Given the description of an element on the screen output the (x, y) to click on. 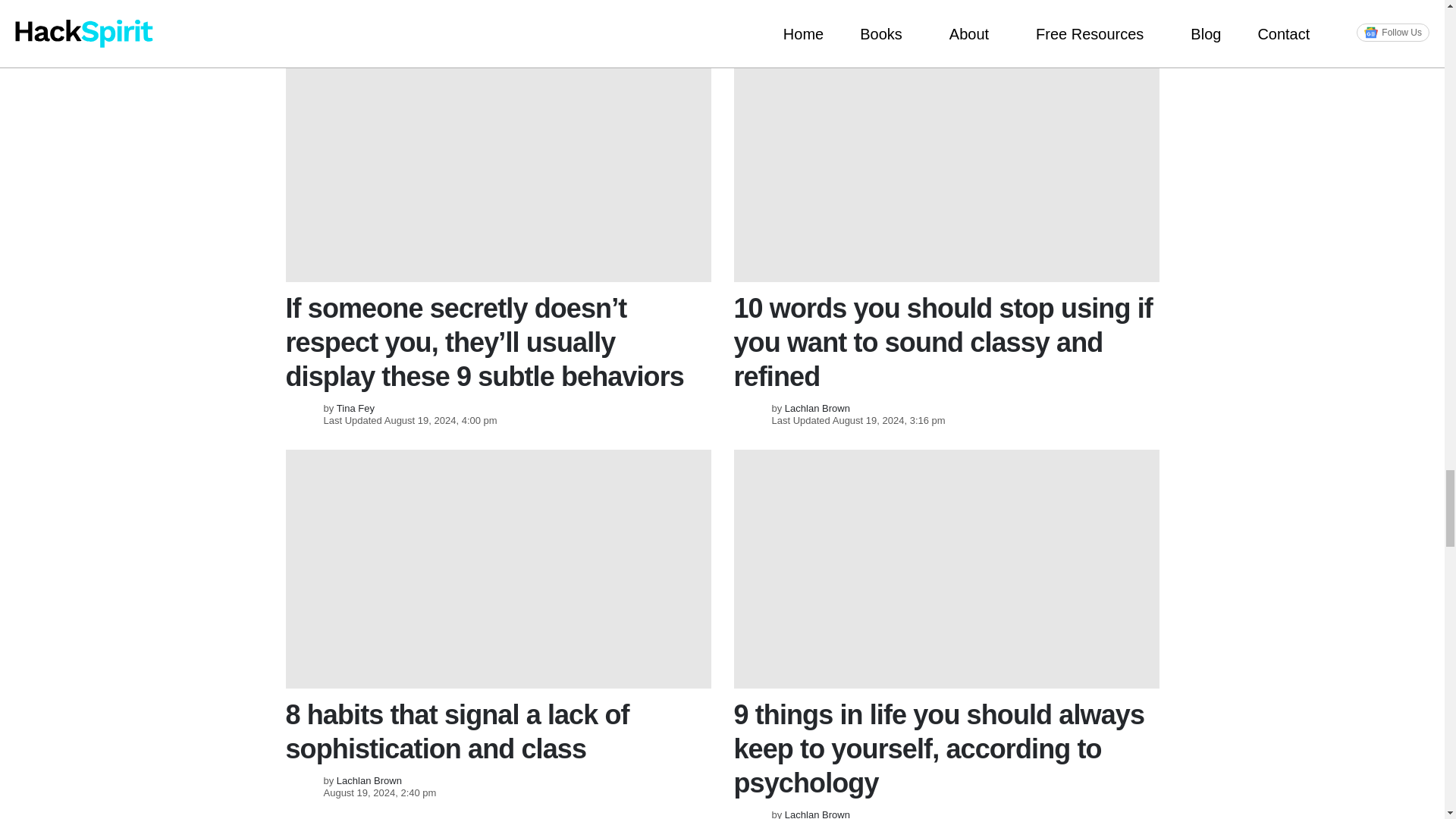
Posts by Lachlan Brown (817, 814)
Posts by Lachlan Brown (368, 780)
Posts by Tina Fey (355, 408)
Posts by Tina Fey (803, 3)
8 habits that signal a lack of sophistication and class (497, 569)
Posts by Mia Zhang (359, 3)
Posts by Lachlan Brown (817, 408)
